Given the description of an element on the screen output the (x, y) to click on. 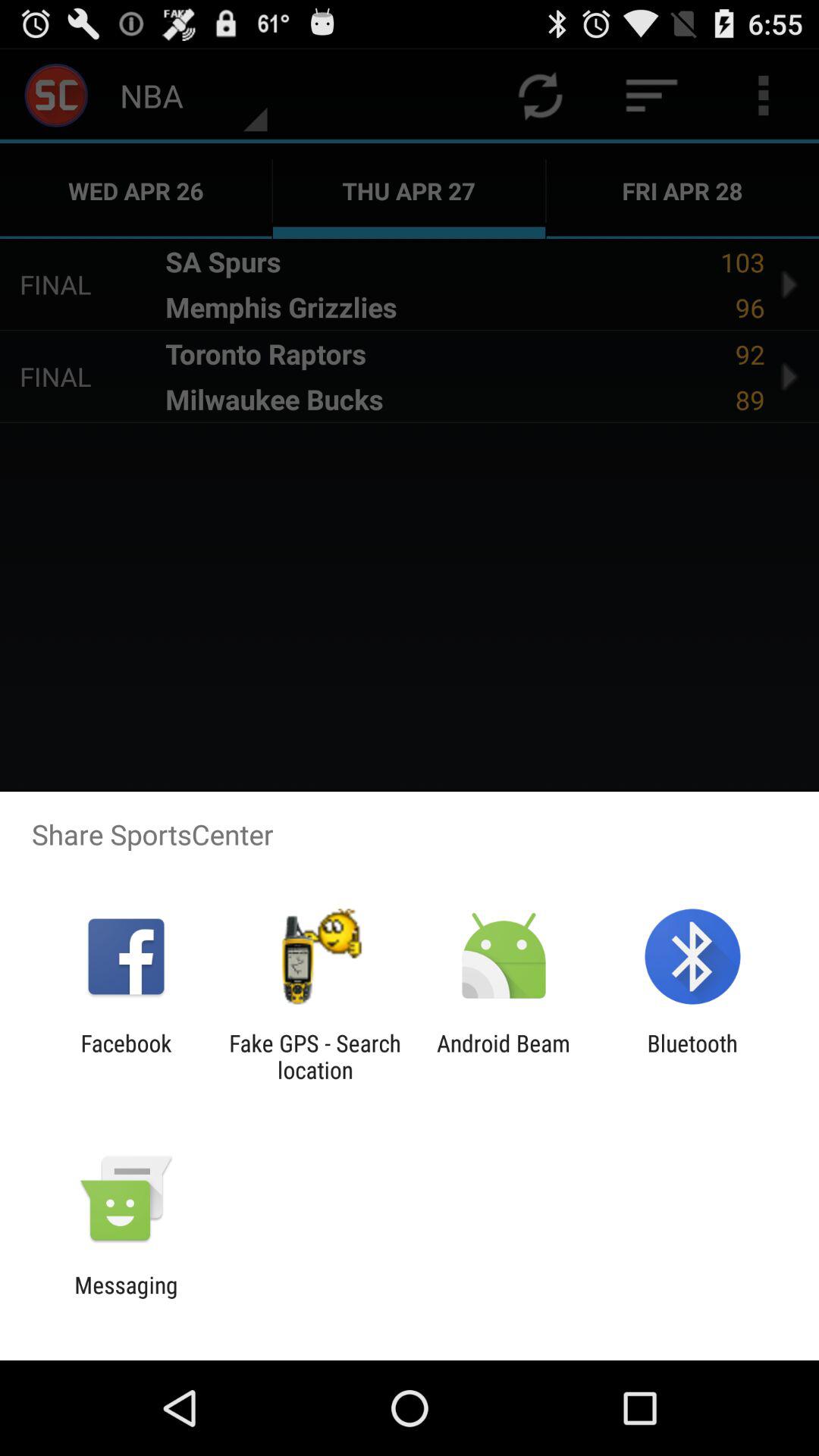
scroll until android beam item (503, 1056)
